Given the description of an element on the screen output the (x, y) to click on. 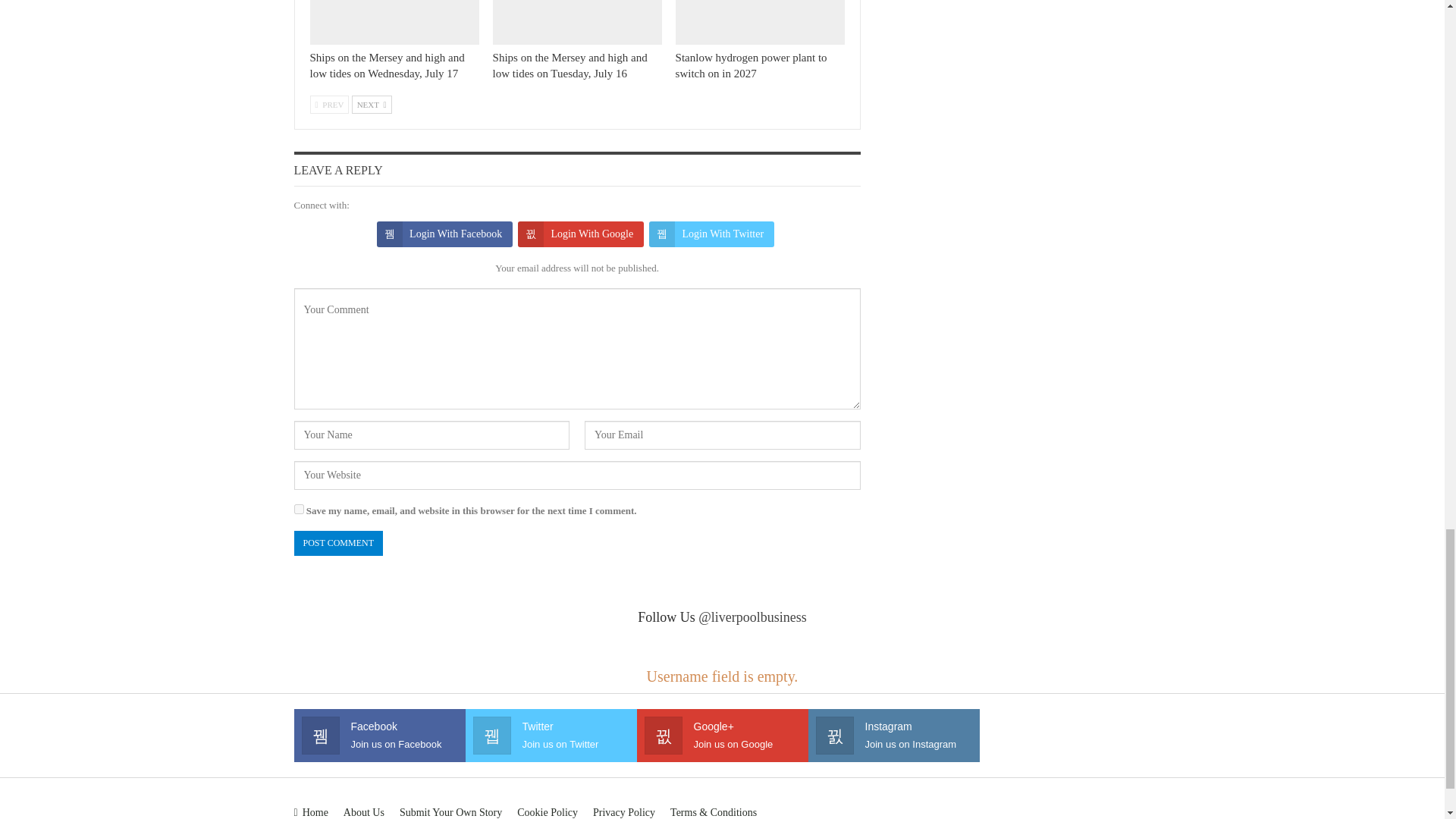
yes (299, 509)
Next (371, 104)
Previous (328, 104)
Post Comment (338, 543)
Stanlow hydrogen power plant to switch on in 2027 (759, 22)
